Given the description of an element on the screen output the (x, y) to click on. 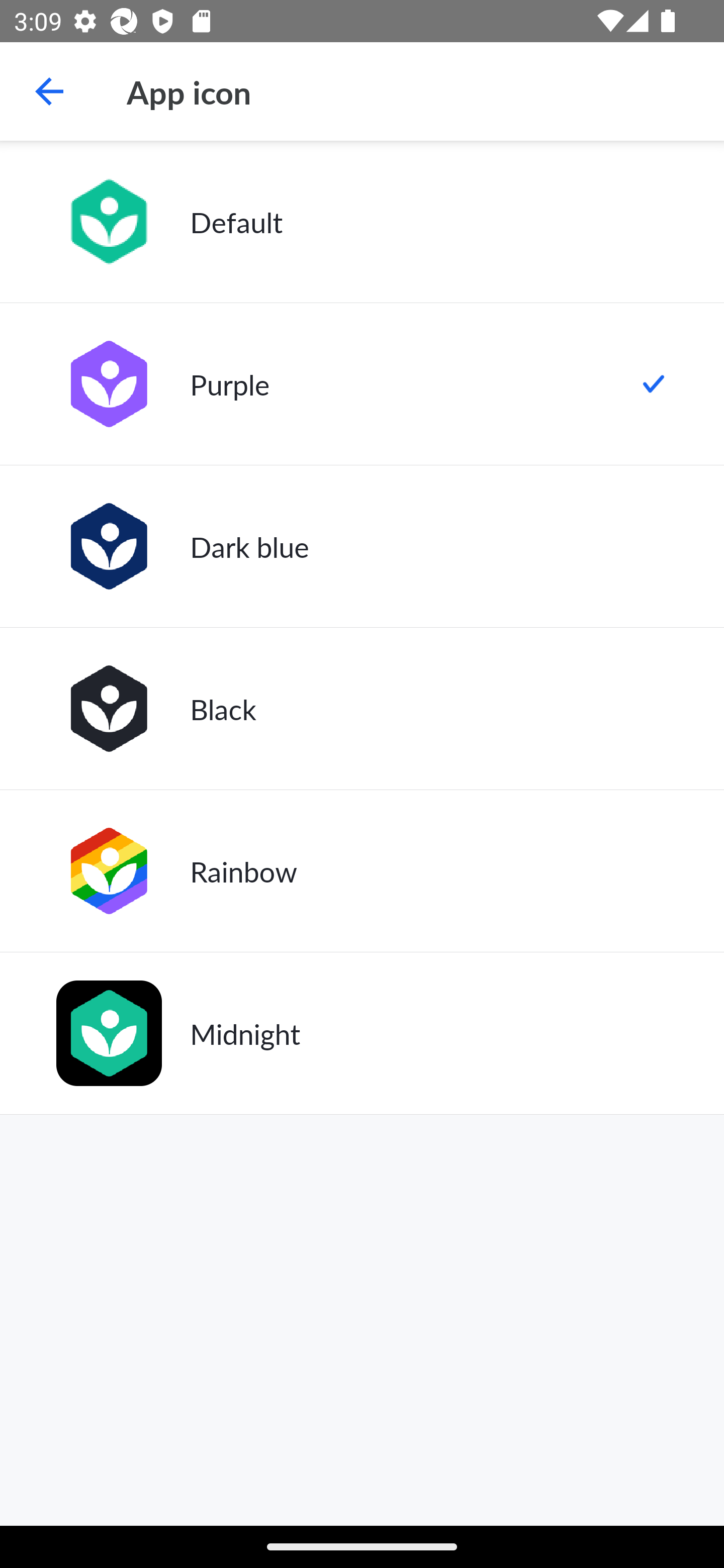
Navigate up (49, 91)
Default (362, 221)
Purple Checkmark (362, 383)
Dark blue (362, 546)
Black (362, 708)
Rainbow (362, 870)
Midnight (362, 1032)
